Given the description of an element on the screen output the (x, y) to click on. 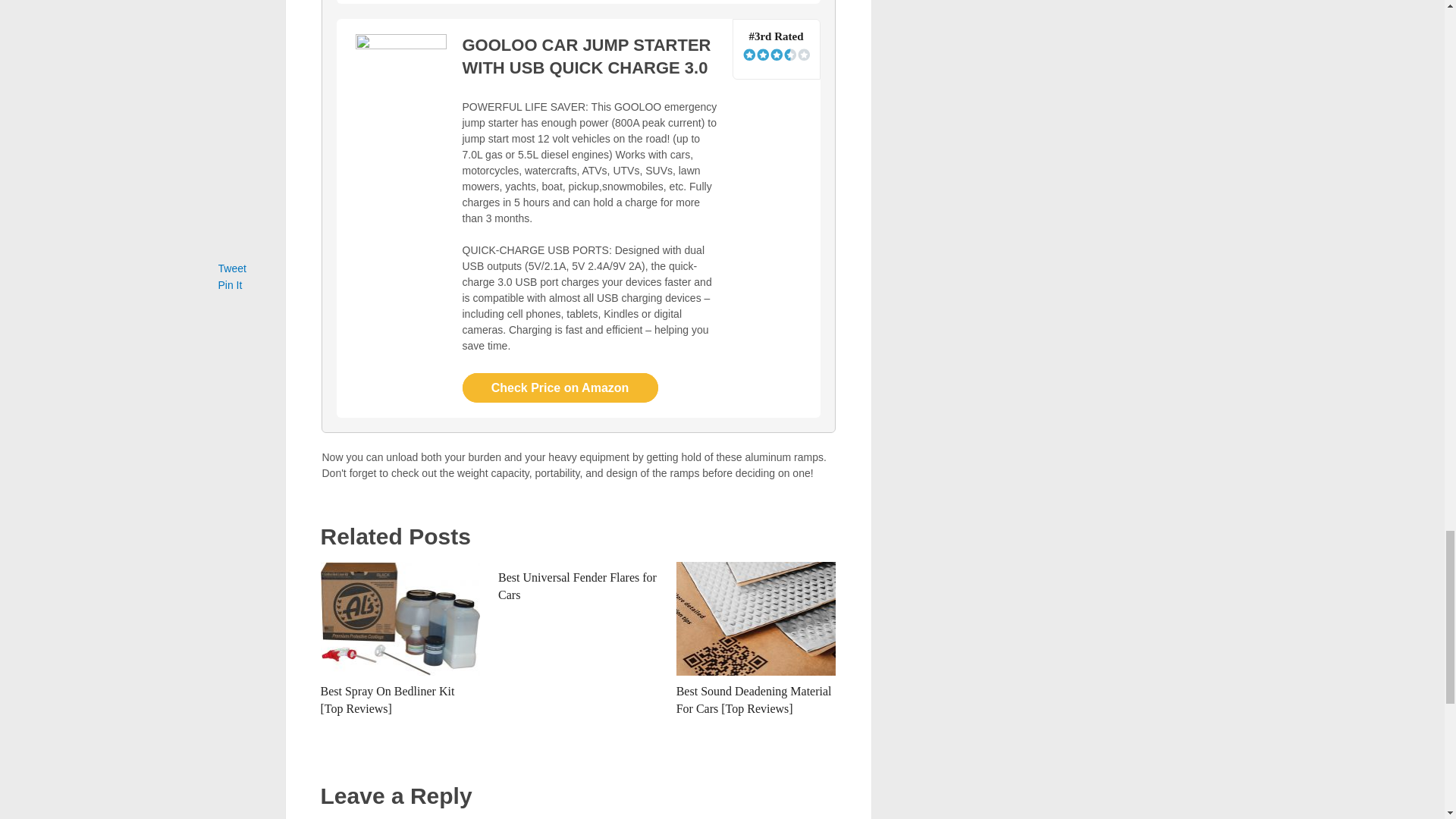
Check Price on Amazon (560, 387)
Best Universal Fender Flares for Cars (576, 585)
gooloo (400, 78)
Best Universal Fender Flares for Cars (576, 585)
